Given the description of an element on the screen output the (x, y) to click on. 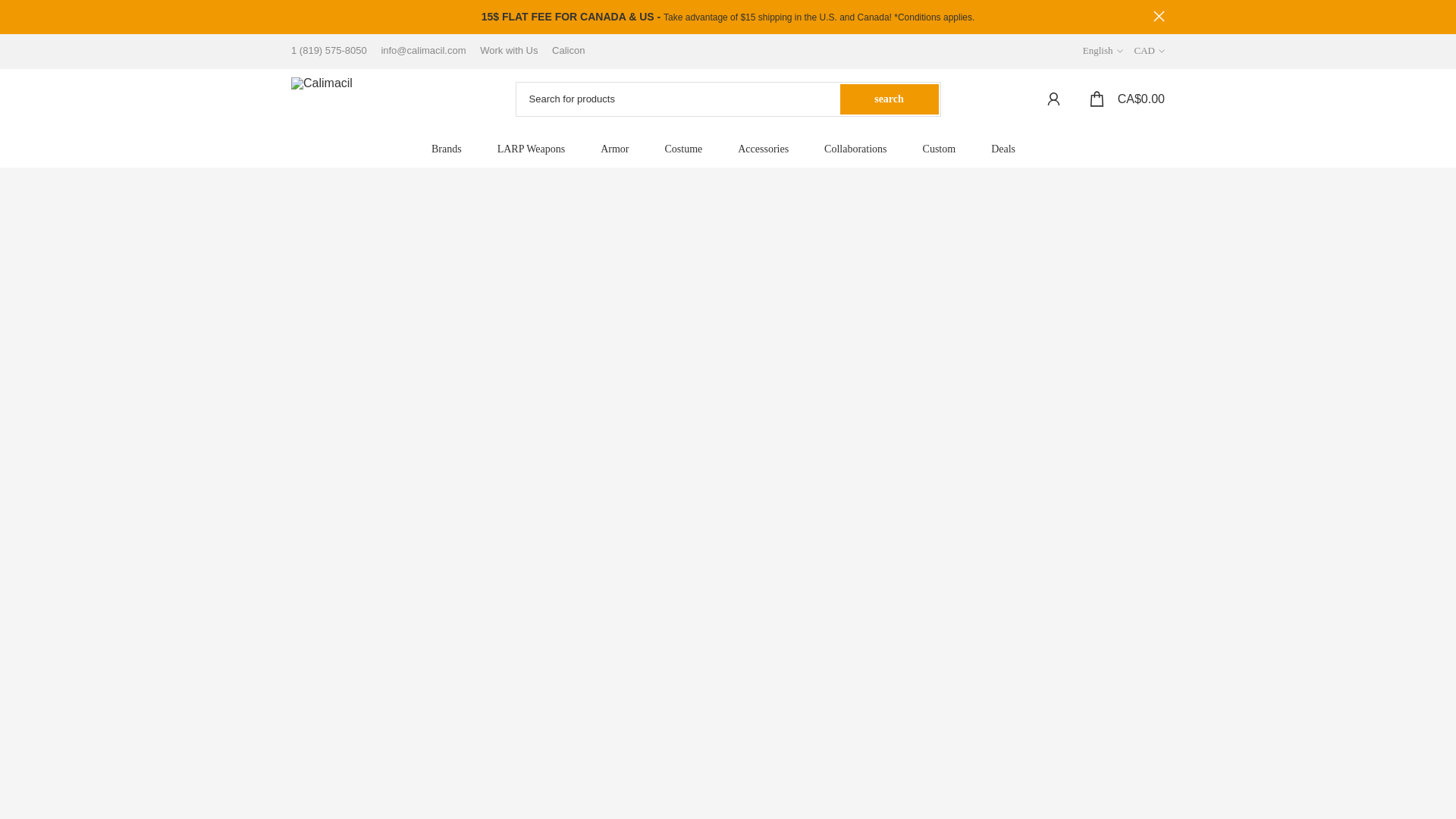
Skip to content (10, 7)
search (889, 99)
Collaborations (859, 149)
English (1102, 50)
Work with Us (504, 50)
Armor (619, 149)
Accessories (767, 149)
close (1158, 16)
Calicon (562, 50)
Deals (1008, 149)
